Given the description of an element on the screen output the (x, y) to click on. 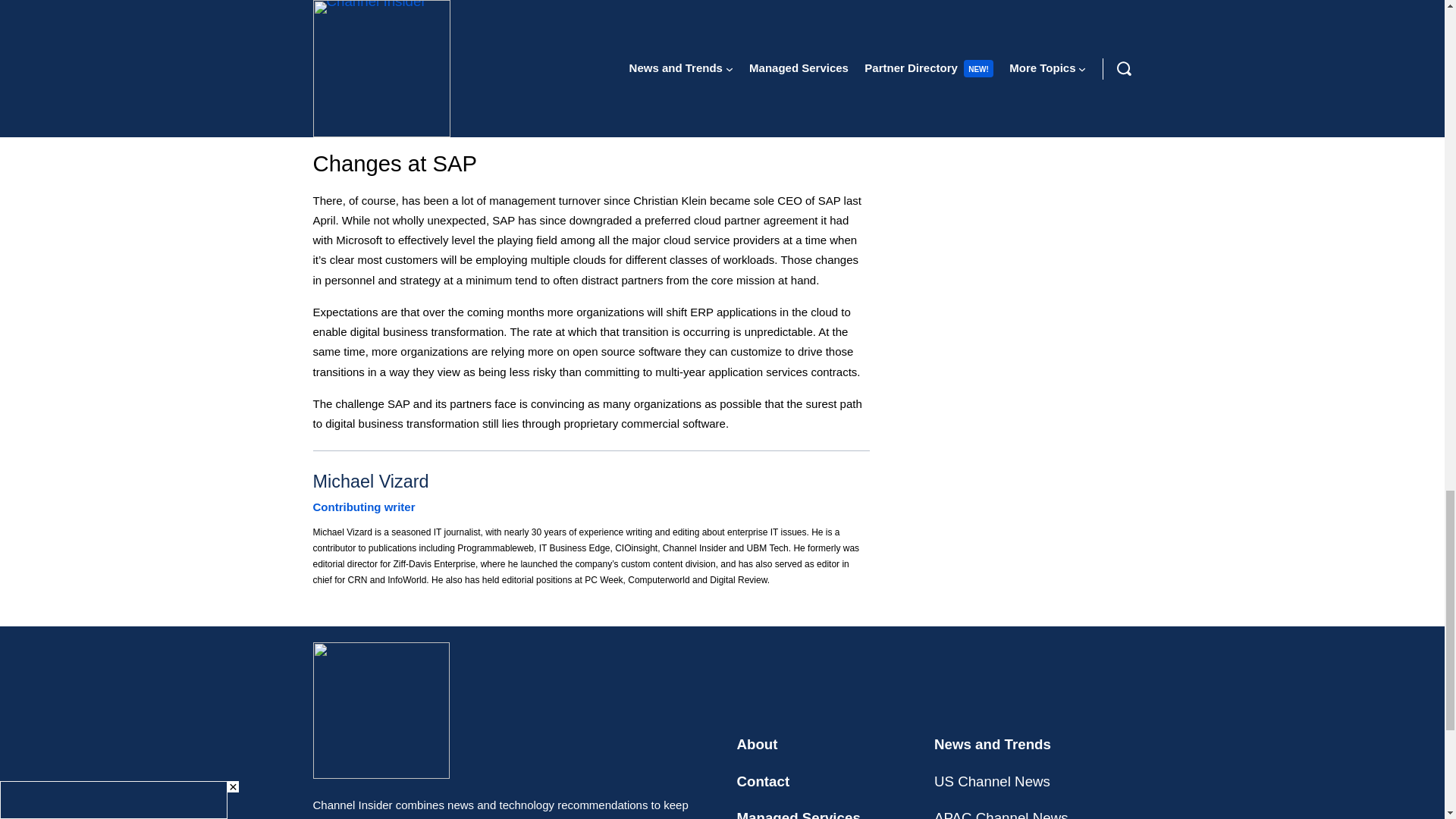
Michael Vizard (370, 481)
SAP Business Network (575, 74)
